Given the description of an element on the screen output the (x, y) to click on. 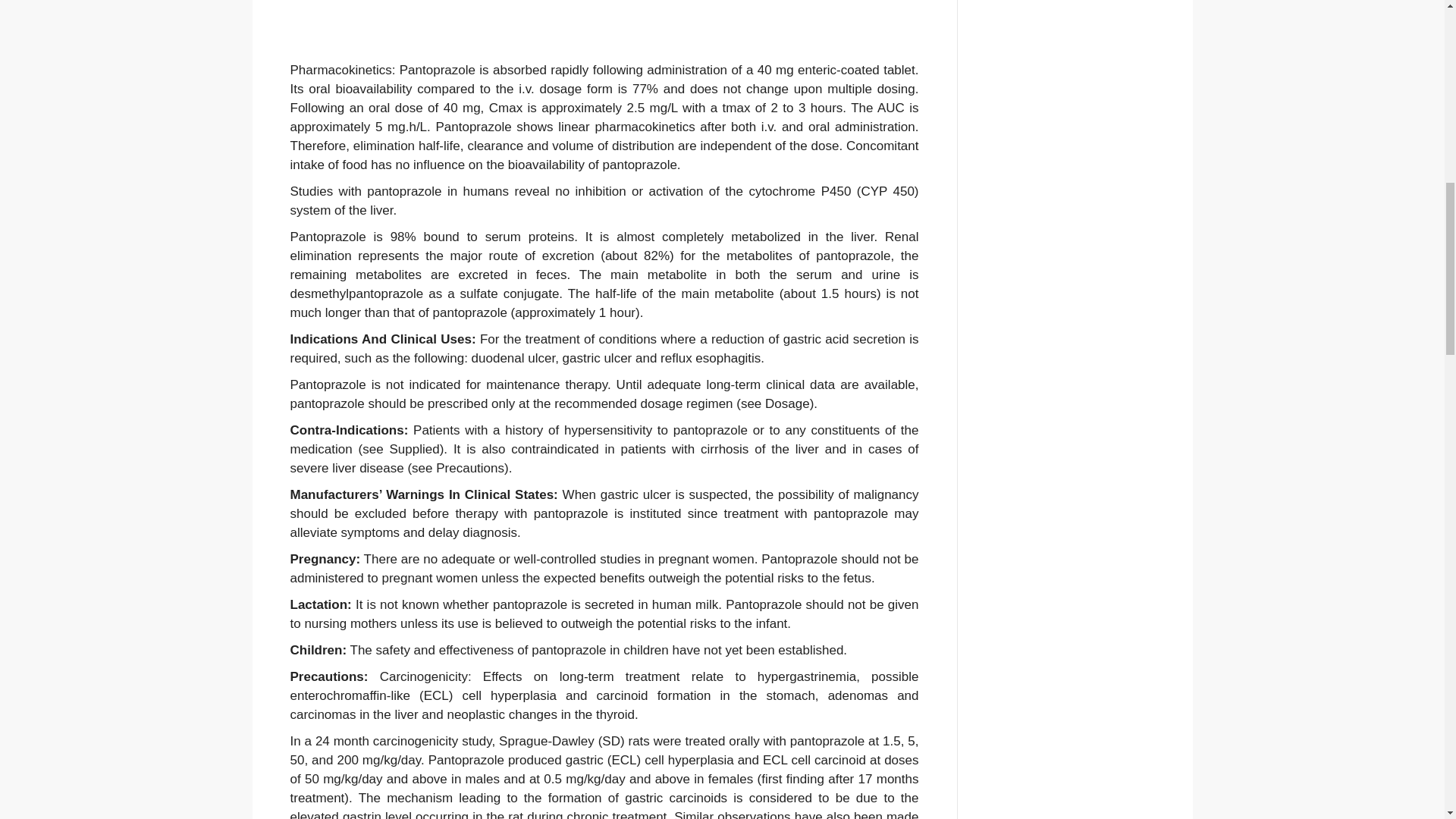
Advertisement (1074, 179)
Advertisement (603, 30)
